Given the description of an element on the screen output the (x, y) to click on. 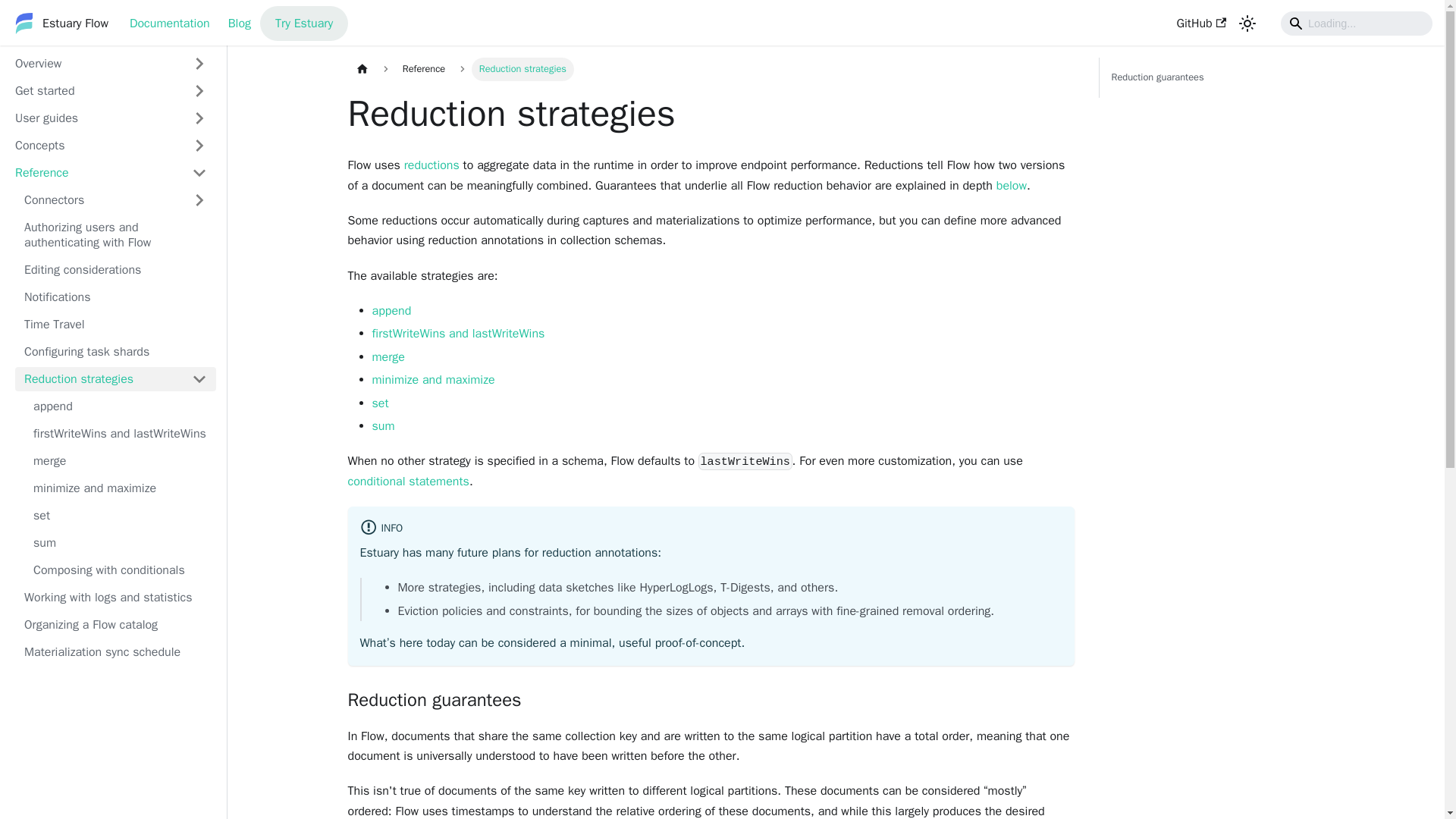
sum (119, 542)
Working with logs and statistics (114, 597)
Configuring task shards (114, 351)
Blog (239, 23)
append (119, 405)
Documentation (169, 23)
Estuary Flow (59, 23)
Get started (110, 90)
Editing considerations (114, 269)
reductions (432, 165)
Reference (110, 172)
below (1010, 185)
Connectors (98, 200)
Notifications (114, 297)
Composing with conditionals (119, 569)
